Given the description of an element on the screen output the (x, y) to click on. 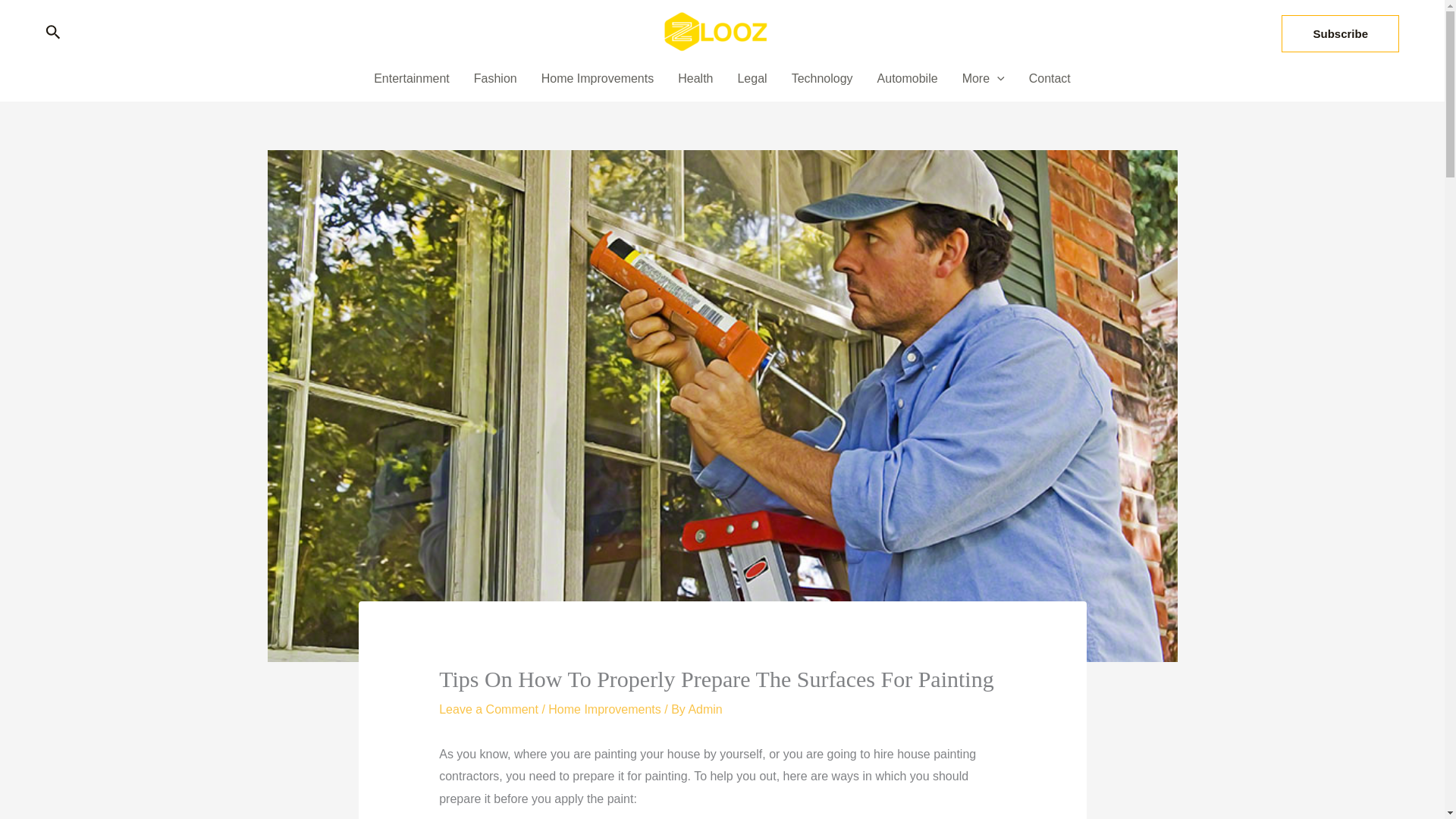
Search (53, 33)
Automobile (907, 78)
Health (695, 78)
Home Improvements (604, 708)
Subscribe (1340, 34)
Home Improvements (597, 78)
More (983, 78)
Fashion (495, 78)
Entertainment (411, 78)
Leave a Comment (488, 708)
Admin (704, 708)
Contact (1049, 78)
View all posts by Admin (704, 708)
Technology (821, 78)
Legal (751, 78)
